Given the description of an element on the screen output the (x, y) to click on. 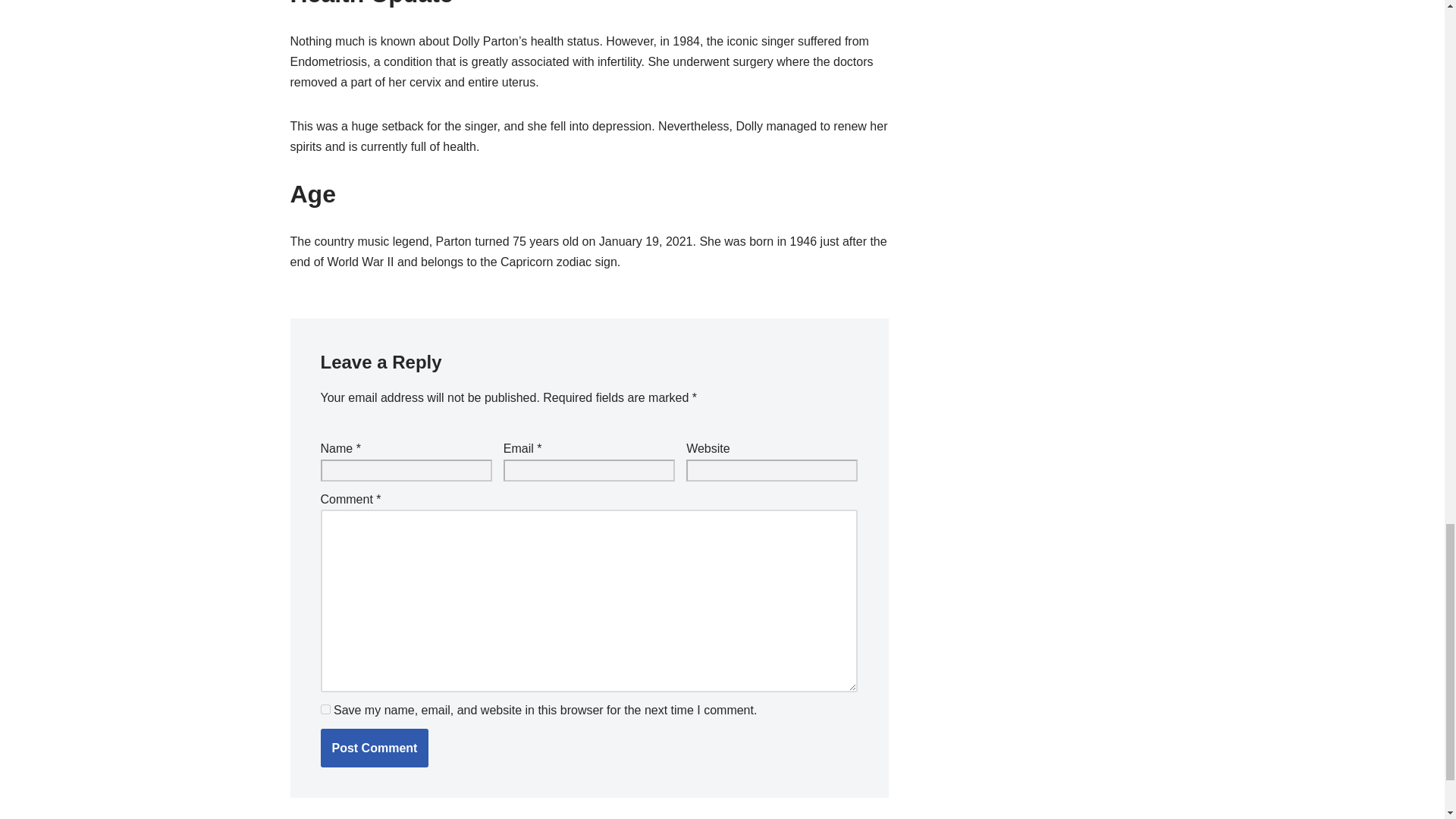
Post Comment (374, 748)
yes (325, 709)
Post Comment (374, 748)
